Given the description of an element on the screen output the (x, y) to click on. 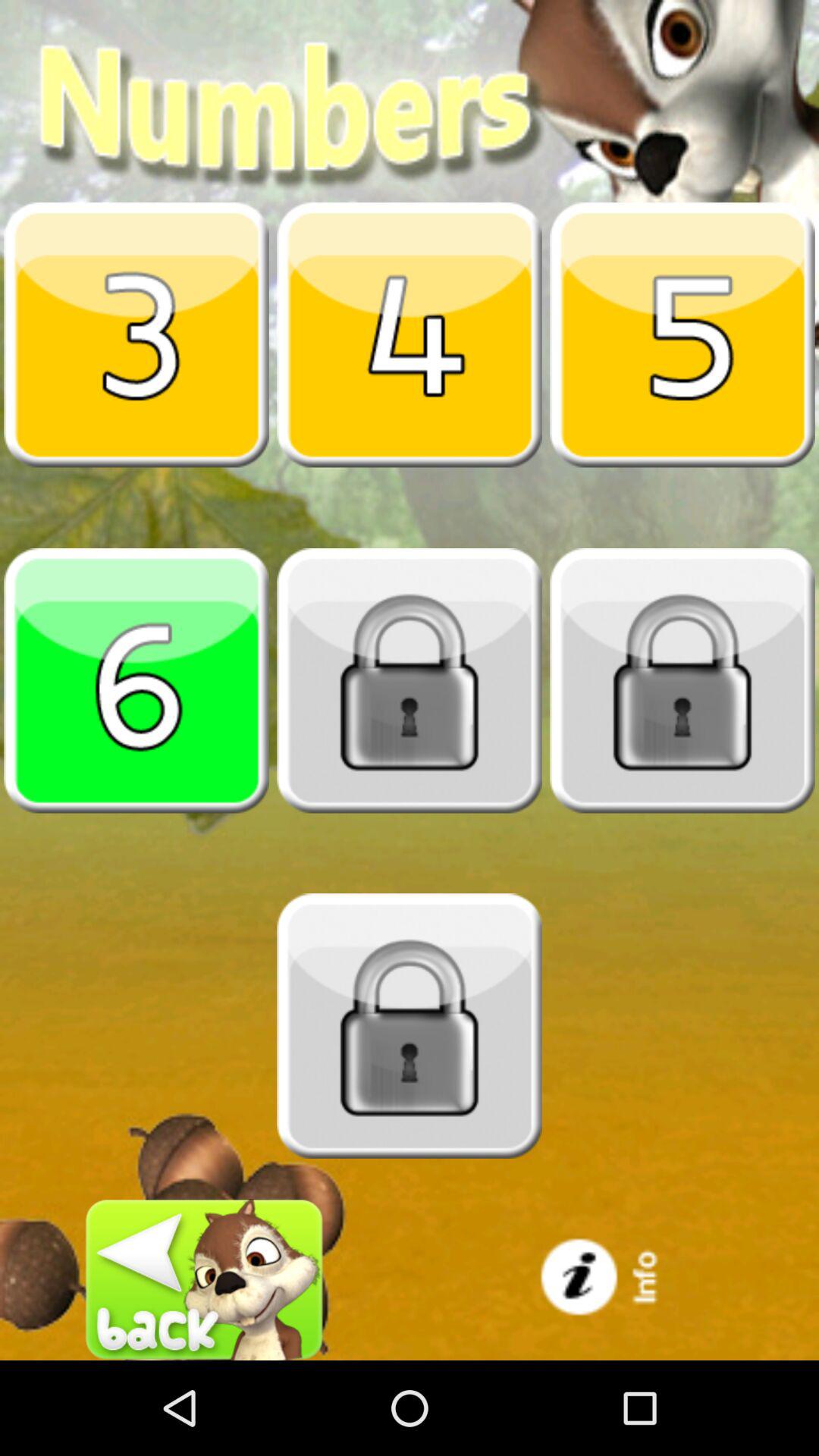
go to number four (409, 334)
